Given the description of an element on the screen output the (x, y) to click on. 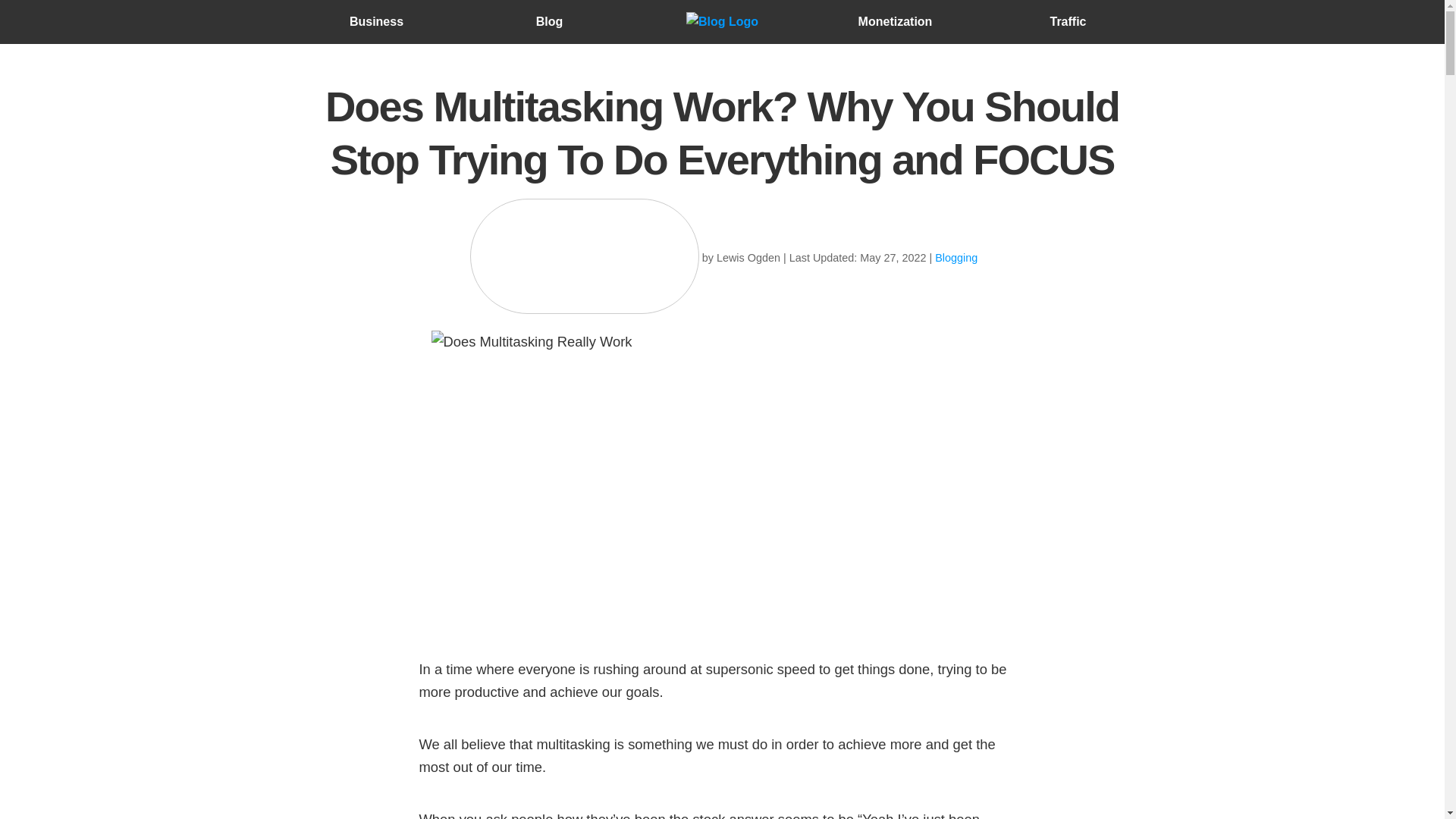
Logo (721, 21)
Monetization (896, 21)
Blog (549, 21)
Traffic (1067, 21)
Blogging (955, 258)
Business (376, 21)
